Given the description of an element on the screen output the (x, y) to click on. 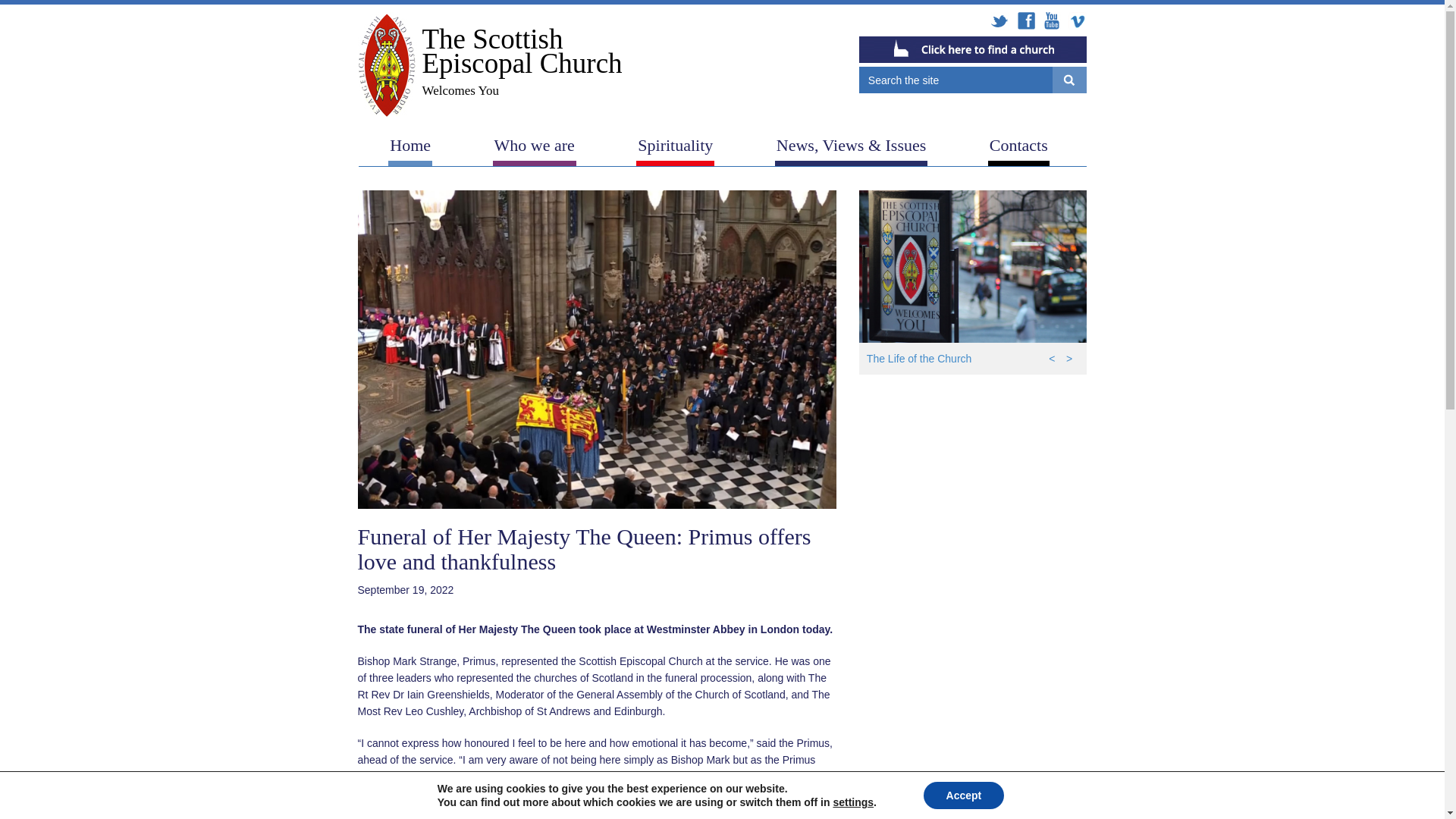
Search the site (955, 79)
Vimeo (1077, 21)
twitter (1000, 21)
facebook (1025, 21)
Open, Discussing, Engaging (744, 334)
Home (410, 148)
twitter (1000, 21)
Search (1069, 79)
Open, Discussing, Engaging (744, 254)
The Life of the Church (973, 266)
The Scottish Episcopal Church (490, 64)
youtube (1051, 21)
Who we are (534, 148)
The Life of the Church (973, 358)
vimeo (1077, 21)
